Given the description of an element on the screen output the (x, y) to click on. 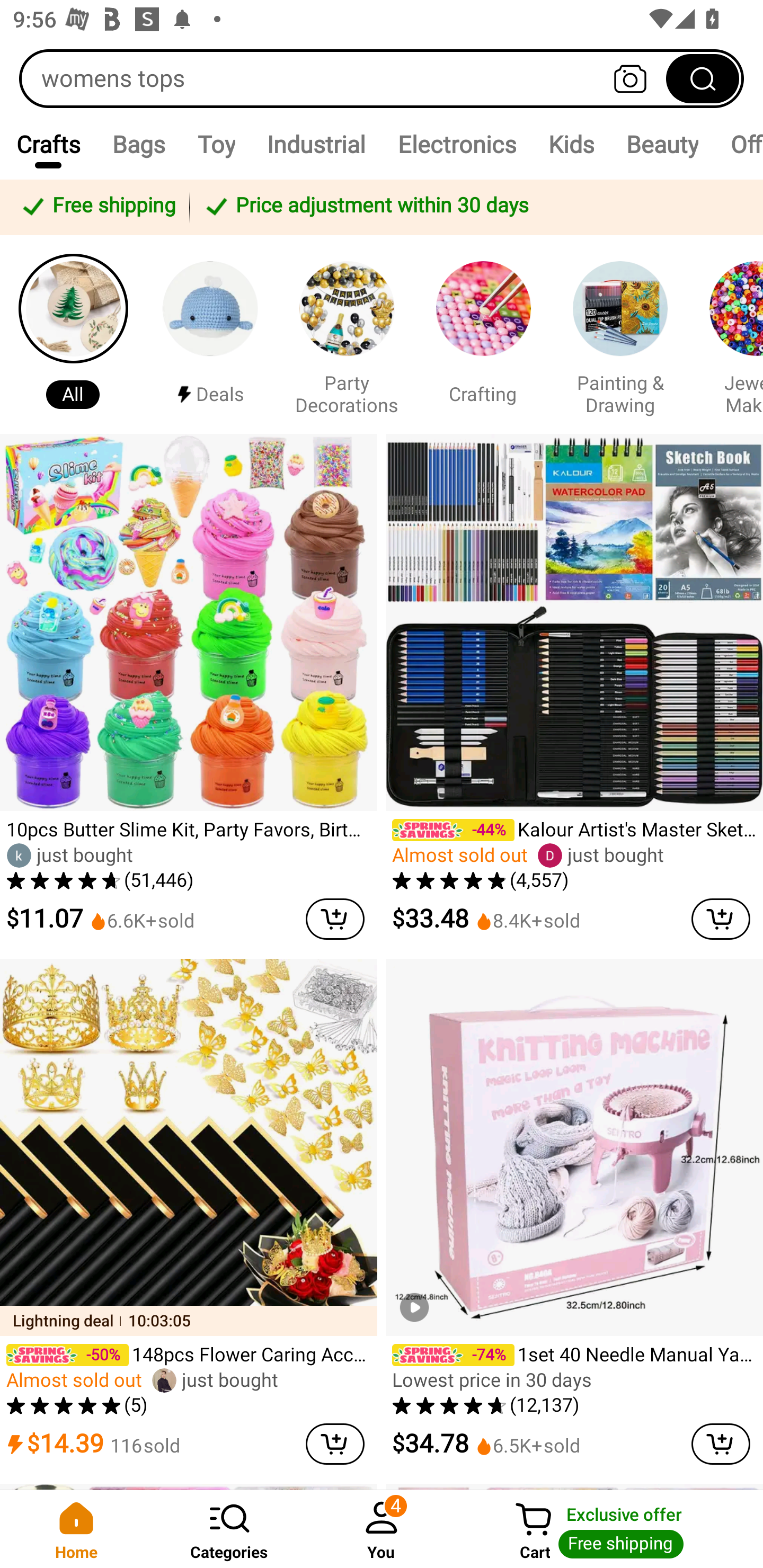
womens tops (381, 78)
Crafts (48, 144)
Bags (138, 144)
Toy (216, 144)
Industrial (316, 144)
Electronics (456, 144)
Kids (570, 144)
Beauty (661, 144)
Free shipping (97, 206)
Price adjustment within 30 days (472, 206)
All (72, 333)
￼￼Deals (209, 333)
Party Decorations (346, 333)
Crafting (482, 333)
Painting & Drawing (619, 333)
cart delete (334, 918)
cart delete (720, 918)
cart delete (334, 1443)
cart delete (720, 1443)
Home (76, 1528)
Categories (228, 1528)
You 4 You (381, 1528)
Cart Cart Exclusive offer (610, 1528)
